Given the description of an element on the screen output the (x, y) to click on. 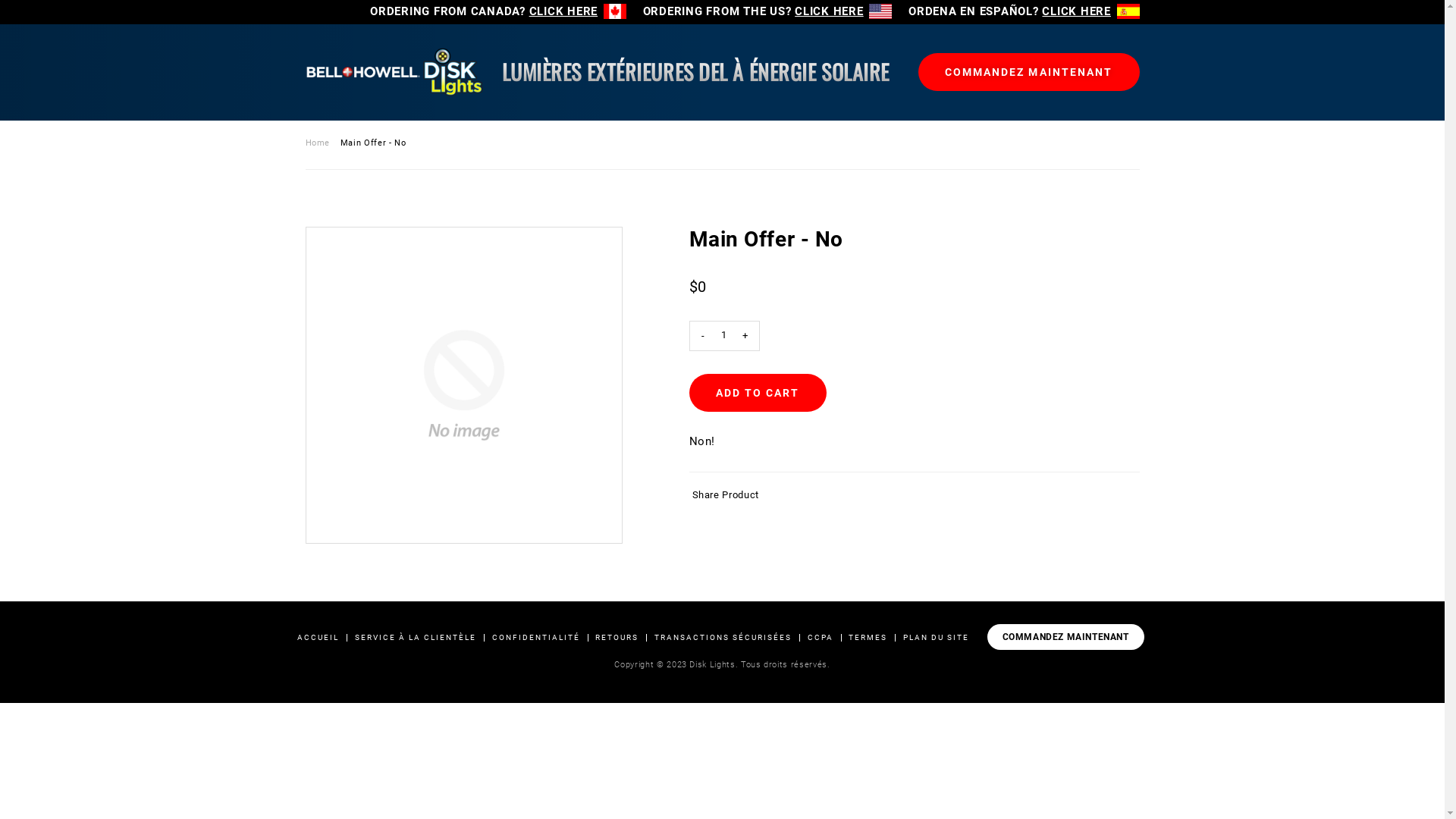
ORDERING FROM CANADA? CLICK HERE Element type: text (498, 11)
TERMES Element type: text (867, 637)
ORDERING FROM THE US? CLICK HERE Element type: text (767, 11)
Qty Element type: hover (724, 334)
Add to cart Element type: text (756, 392)
COMMANDEZ MAINTENANT Element type: text (1028, 72)
CCPA Element type: text (820, 637)
COMMANDEZ MAINTENANT Element type: text (1065, 636)
ACCUEIL Element type: text (317, 637)
PLAN DU SITE Element type: text (936, 637)
RETOURS Element type: text (616, 637)
Home Element type: text (316, 142)
